Given the description of an element on the screen output the (x, y) to click on. 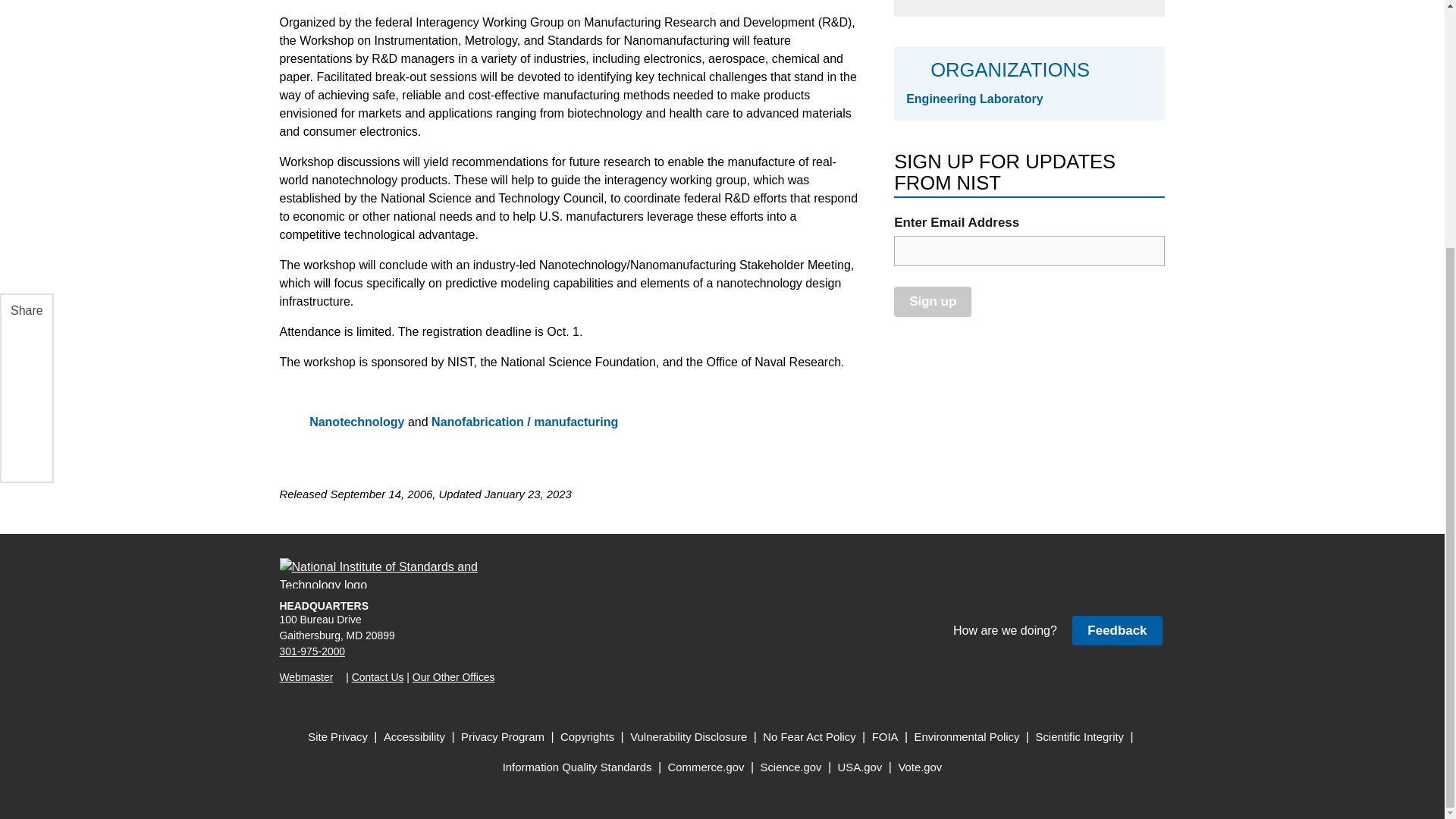
Provide feedback (1116, 630)
Facebook (25, 6)
Email (25, 105)
email (1028, 250)
Sign up (932, 301)
Linkedin (25, 33)
Twitter (25, 69)
National Institute of Standards and Technology (387, 572)
